Given the description of an element on the screen output the (x, y) to click on. 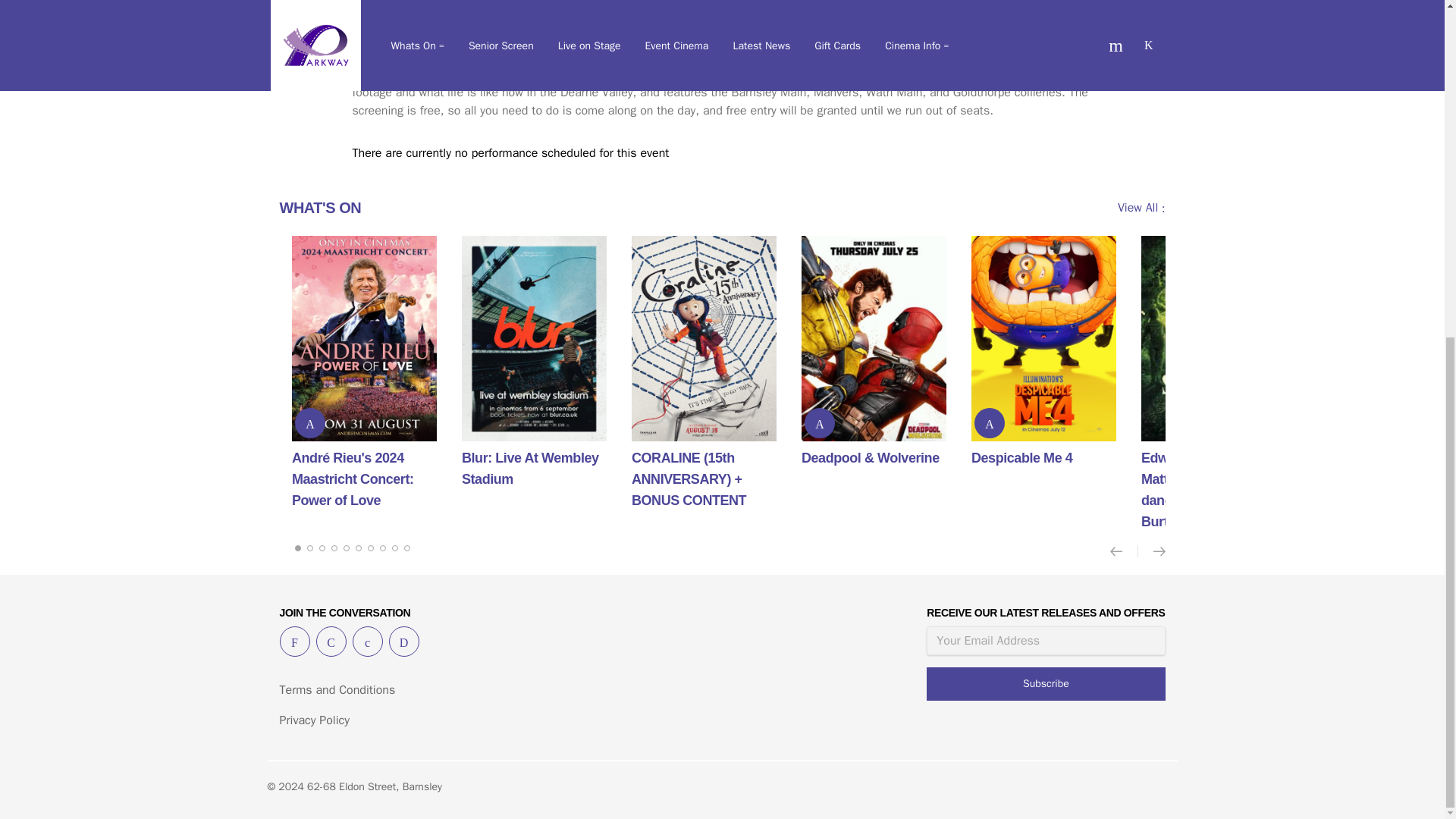
Subscribe (1045, 684)
